Given the description of an element on the screen output the (x, y) to click on. 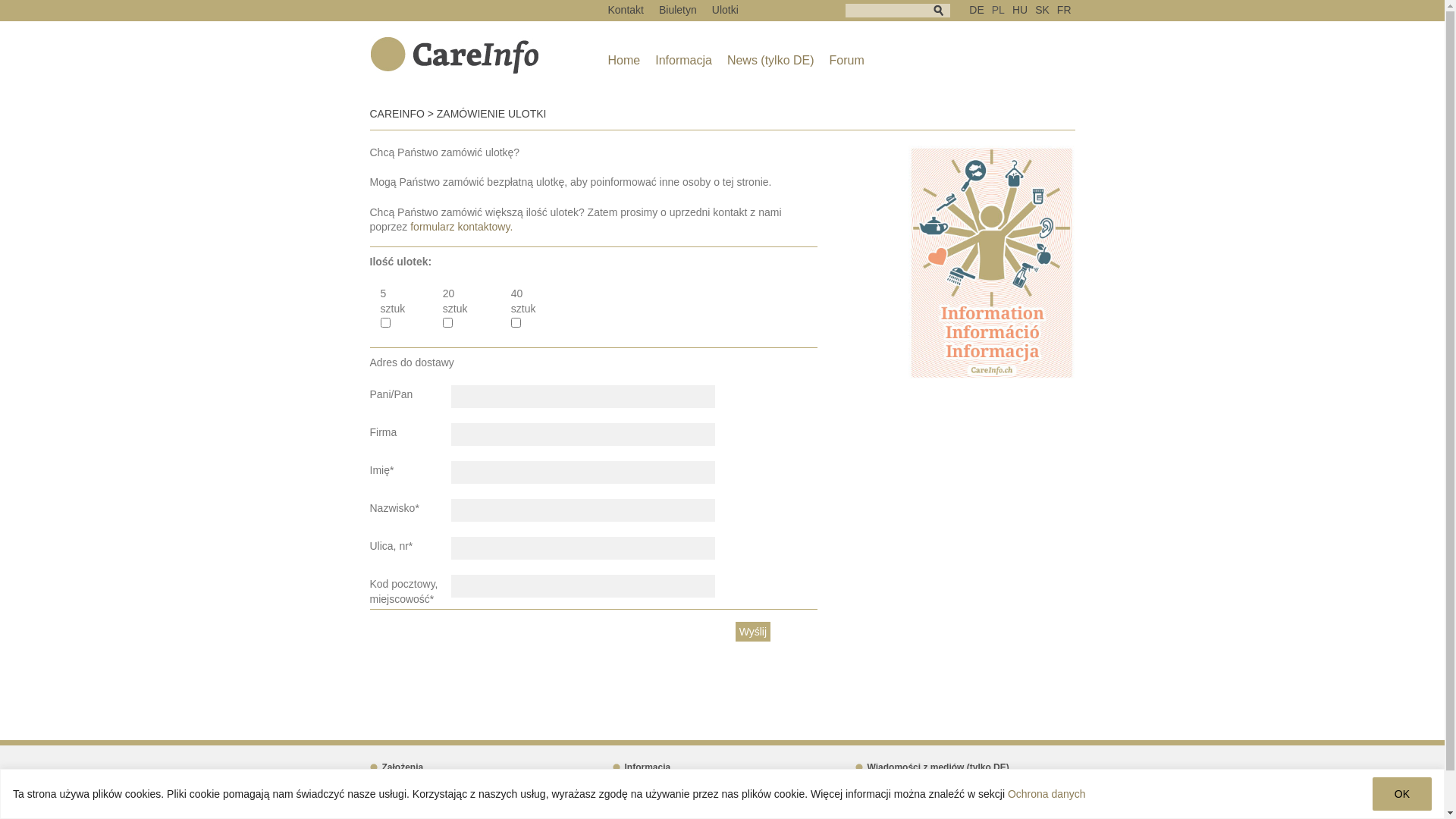
Forum Element type: text (846, 59)
Informacja Element type: text (683, 59)
FR Element type: text (1064, 9)
SK Element type: text (1042, 9)
DE Element type: text (976, 9)
Kontakt Element type: text (625, 9)
PL Element type: text (997, 9)
CAREINFO Element type: text (397, 113)
Ochrona danych Element type: text (1046, 793)
Home Element type: text (624, 59)
News (tylko DE) Element type: text (652, 780)
News (tylko DE) Element type: text (770, 59)
Biuletyn Element type: text (677, 9)
HU Element type: text (1019, 9)
Informacja Element type: text (641, 767)
Ulotki Element type: text (725, 9)
Informacje & Doradztwo Element type: text (913, 780)
Stopka redakcyjna Element type: text (416, 780)
Forum dla Care-migrantek Element type: text (674, 794)
OK Element type: text (1401, 793)
formularz kontaktowy. Element type: text (461, 226)
